Given the description of an element on the screen output the (x, y) to click on. 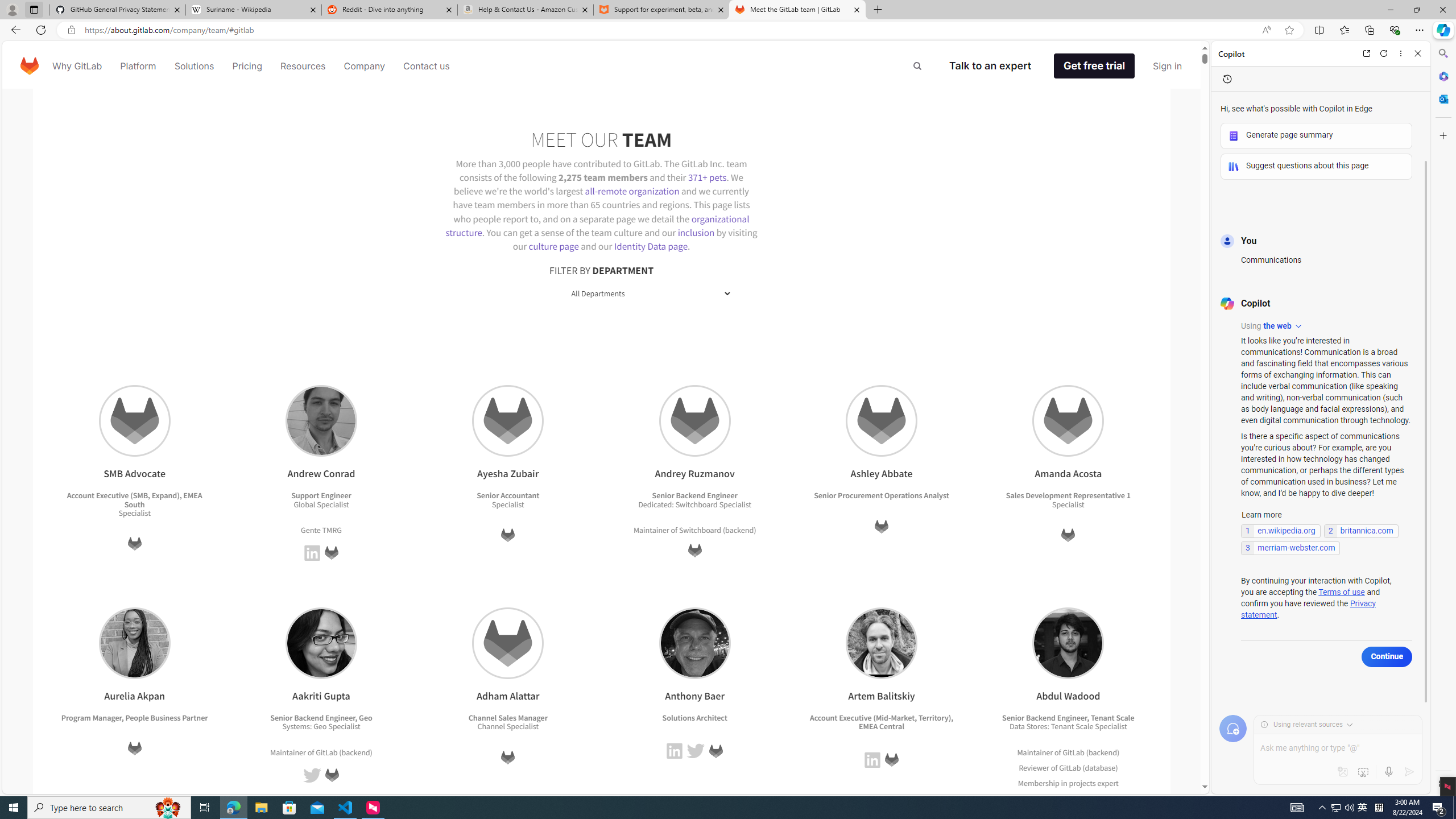
Company (364, 65)
AutomationID: team-selector (601, 293)
Andrey Ruzmanov (694, 420)
Suriname - Wikipedia (253, 9)
Membership in groups expert (1067, 797)
Ashley Abbate (881, 420)
GitLab (890, 759)
